Given the description of an element on the screen output the (x, y) to click on. 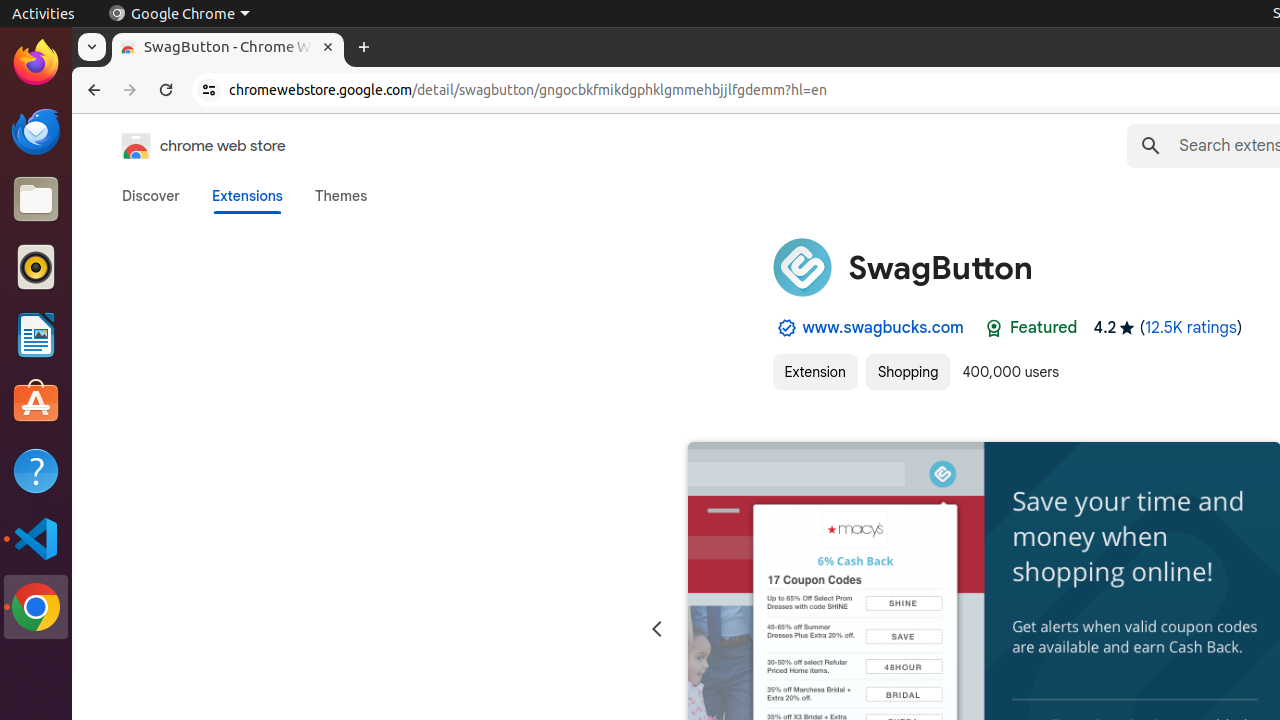
Previous slide Element type: push-button (656, 629)
Google Chrome Element type: push-button (36, 607)
Rhythmbox Element type: push-button (36, 267)
New Tab Element type: push-button (364, 47)
Visual Studio Code Element type: push-button (36, 538)
